Given the description of an element on the screen output the (x, y) to click on. 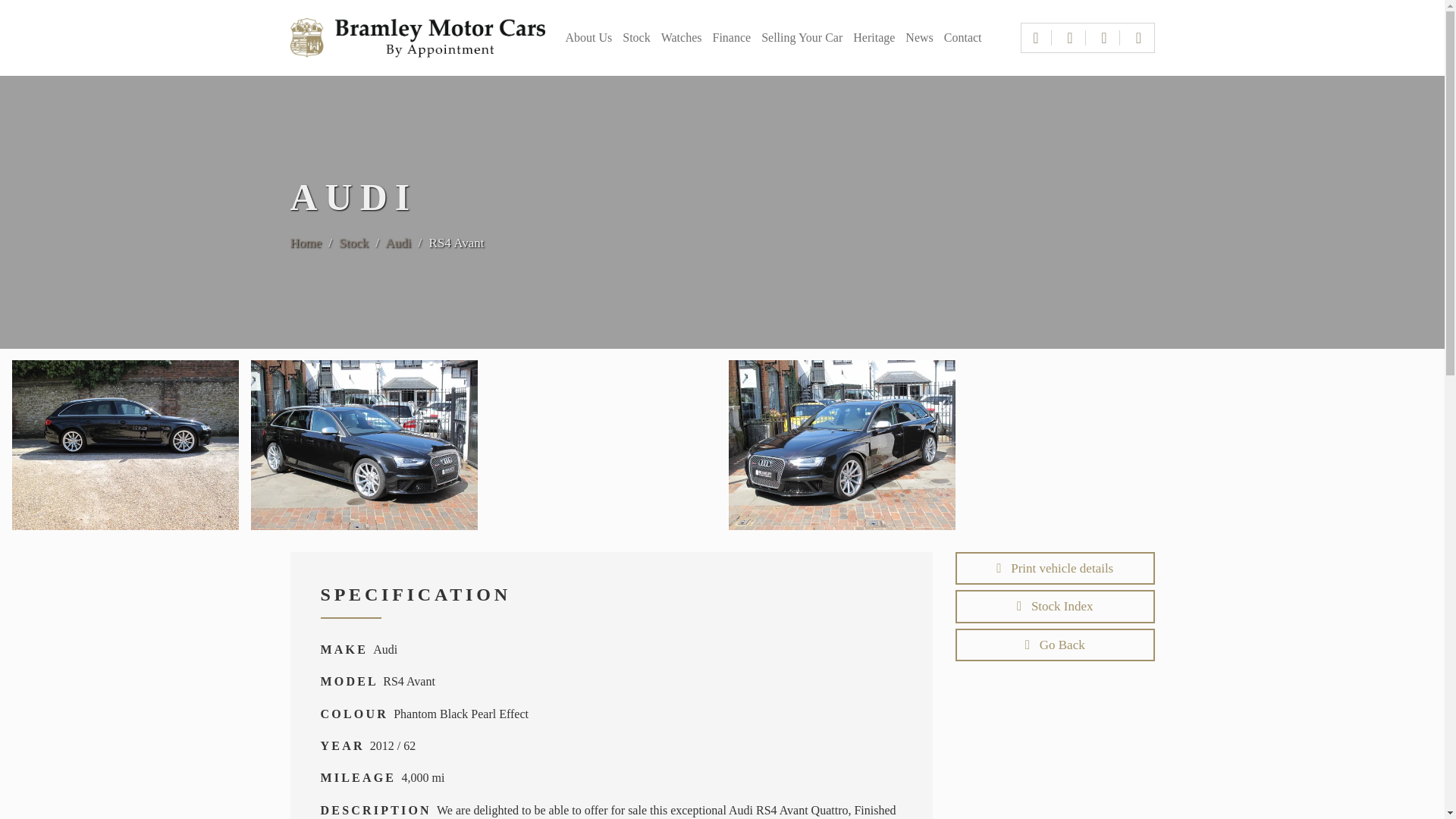
Heritage (874, 39)
About Us (587, 39)
News (919, 39)
Stock (636, 39)
Finance (731, 39)
Watches (681, 39)
Selling Your Car (802, 39)
